Given the description of an element on the screen output the (x, y) to click on. 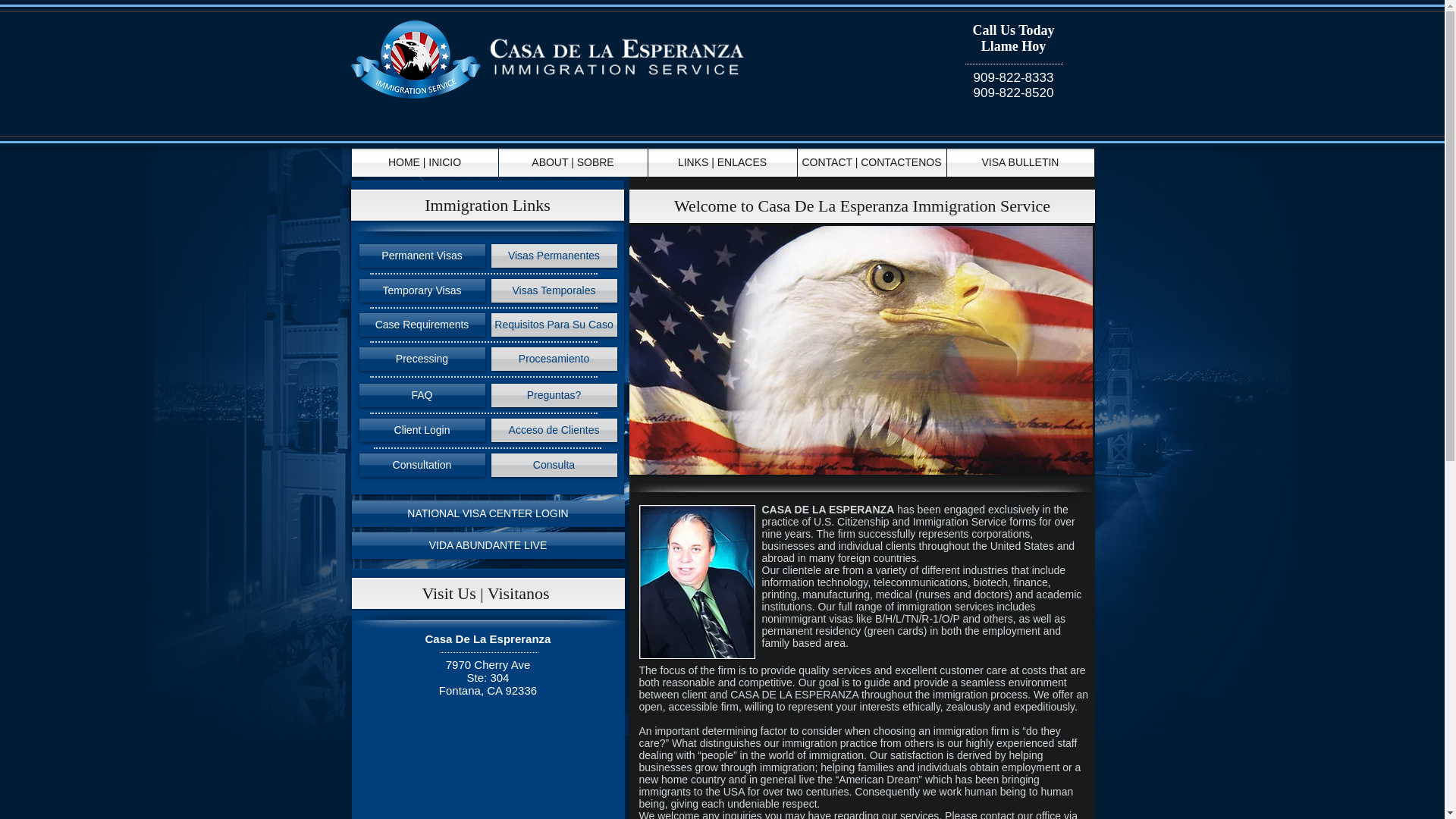
Google Maps (488, 769)
Permanent Visas (421, 255)
Requisitos Para Su Caso (554, 324)
Acceso de Clientes (554, 430)
Preguntas? (554, 395)
Consulta (554, 464)
Consultation (421, 464)
Visas Permanentes (554, 255)
Temporary Visas (421, 290)
VIDA ABUNDANTE LIVE (488, 545)
Case Requirements (421, 324)
Precessing (421, 359)
VISA BULLETIN (1019, 162)
Visas Temporales (554, 290)
NATIONAL VISA CENTER LOGIN (488, 513)
